Given the description of an element on the screen output the (x, y) to click on. 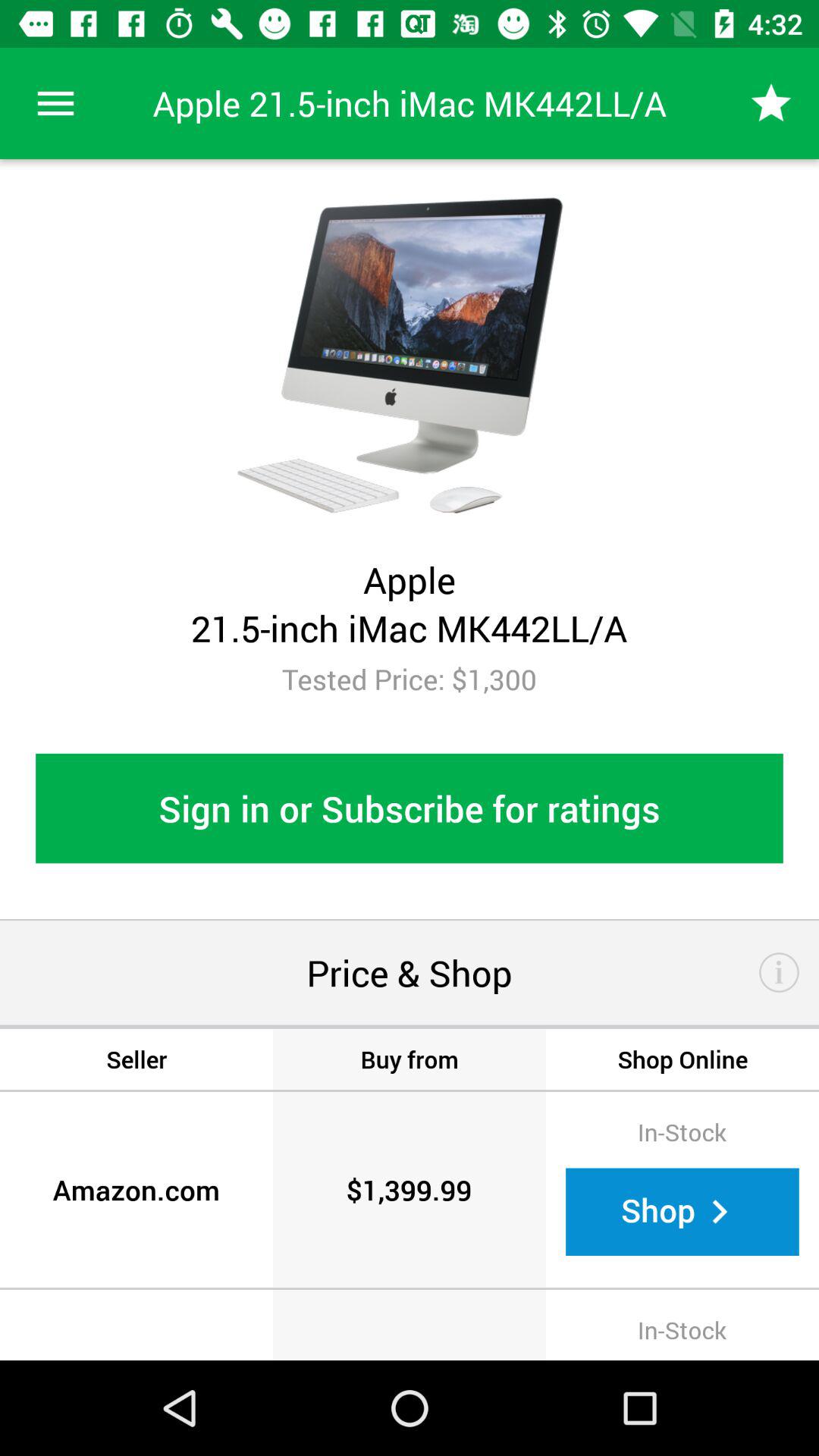
turn on icon above tested price 1 item (55, 103)
